Given the description of an element on the screen output the (x, y) to click on. 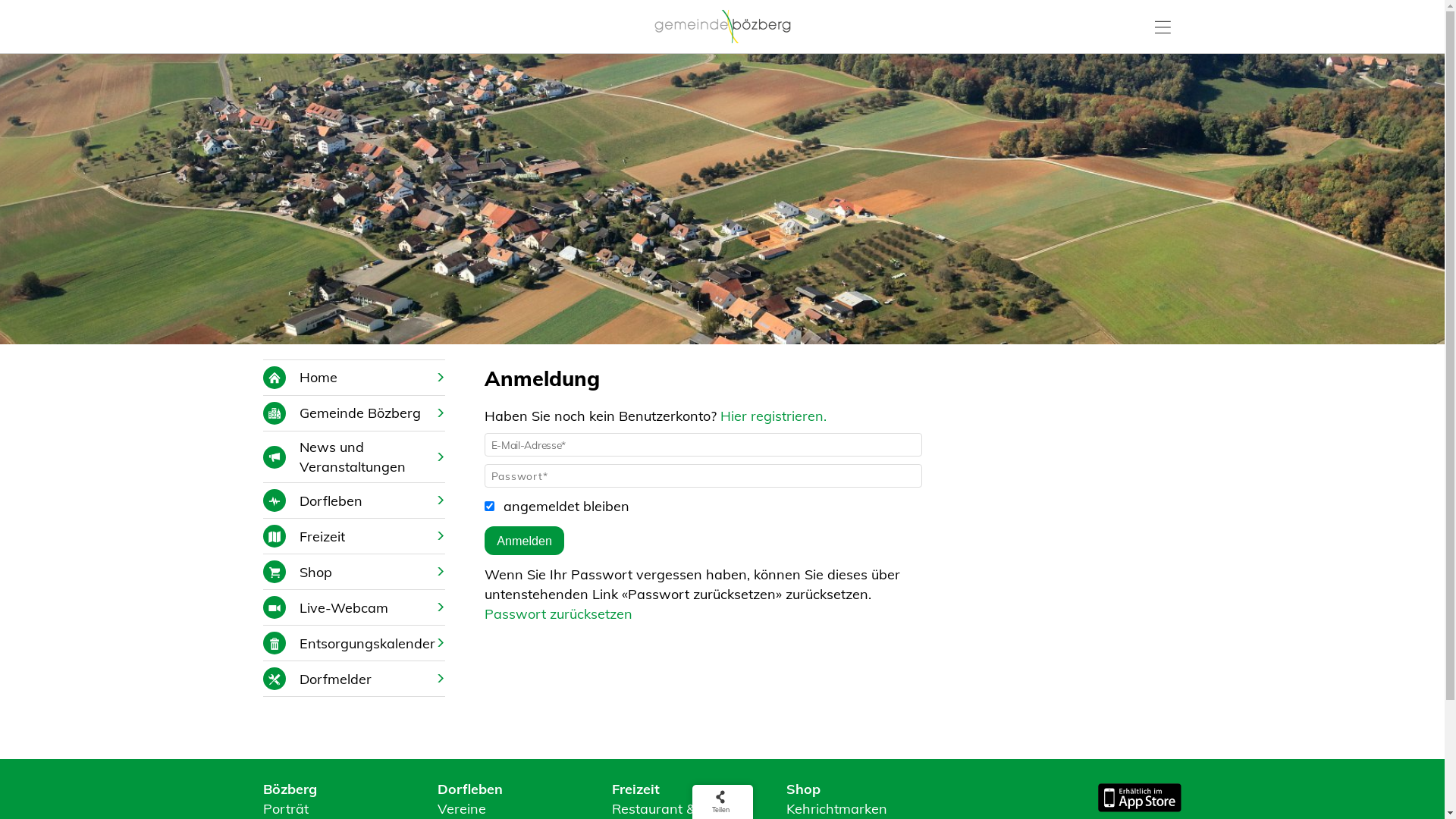
Freizeit Element type: text (354, 535)
Anmelden Element type: text (524, 540)
Dorfmelder Element type: text (354, 678)
Teilen Element type: text (719, 801)
Shop Element type: text (354, 571)
Entsorgungskalender Element type: text (354, 642)
Hier registrieren. Element type: text (773, 415)
Dorfleben Element type: text (354, 500)
Home Element type: text (354, 377)
Live-Webcam Element type: text (354, 606)
Navigation anzeigen Element type: hover (1162, 24)
News und Veranstaltungen Element type: text (354, 456)
